Given the description of an element on the screen output the (x, y) to click on. 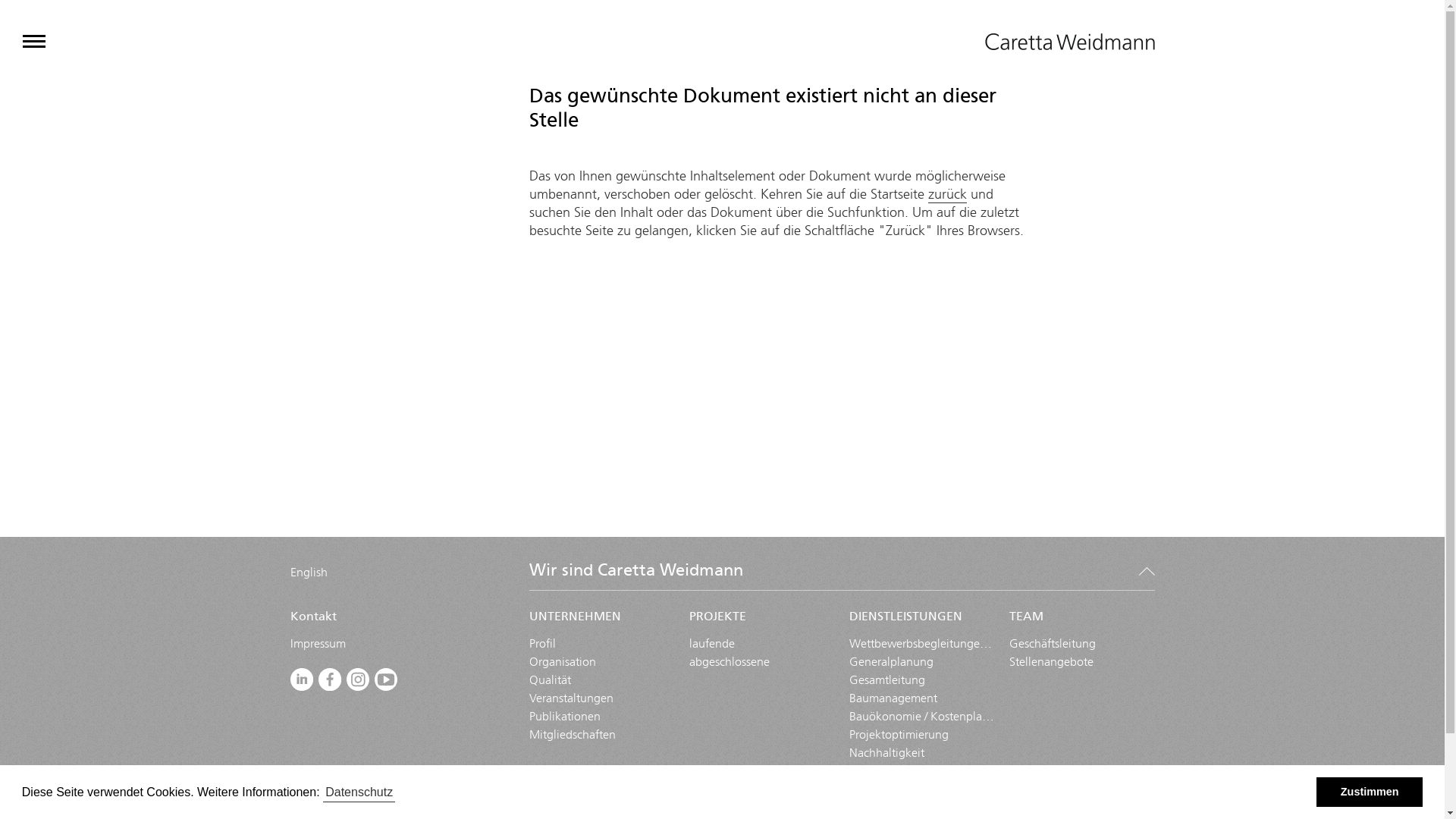
Baumanagement Element type: text (893, 697)
Bauleitung Element type: text (877, 770)
Organisation Element type: text (562, 661)
Zustimmen Element type: text (1369, 791)
laufende Element type: text (711, 643)
Projektentwicklung Element type: text (898, 788)
TEAM Element type: text (1081, 620)
Projektoptimierung Element type: text (898, 734)
Impressum Element type: text (317, 643)
Nachhaltigkeit Element type: text (886, 752)
Profil Element type: text (542, 643)
English Element type: text (307, 571)
Youtube Element type: text (386, 680)
Gesamtleitung Element type: text (887, 679)
Projektleitung Bauherr Element type: text (906, 807)
Generalplanung Element type: text (891, 661)
Stellenangebote Element type: text (1051, 661)
Publikationen Element type: text (564, 716)
LinkedIn Element type: text (301, 681)
Instagram Element type: text (357, 680)
Nach oben Element type: text (1146, 571)
abgeschlossene Element type: text (729, 661)
Mitgliedschaften Element type: text (572, 734)
UNTERNEHMEN Element type: text (601, 620)
Kontakt Element type: text (397, 620)
PROJEKTE Element type: text (761, 620)
Facebook Element type: text (330, 680)
DIENSTLEISTUNGEN Element type: text (921, 620)
Datenschutz Element type: text (359, 791)
Veranstaltungen Element type: text (571, 697)
